Given the description of an element on the screen output the (x, y) to click on. 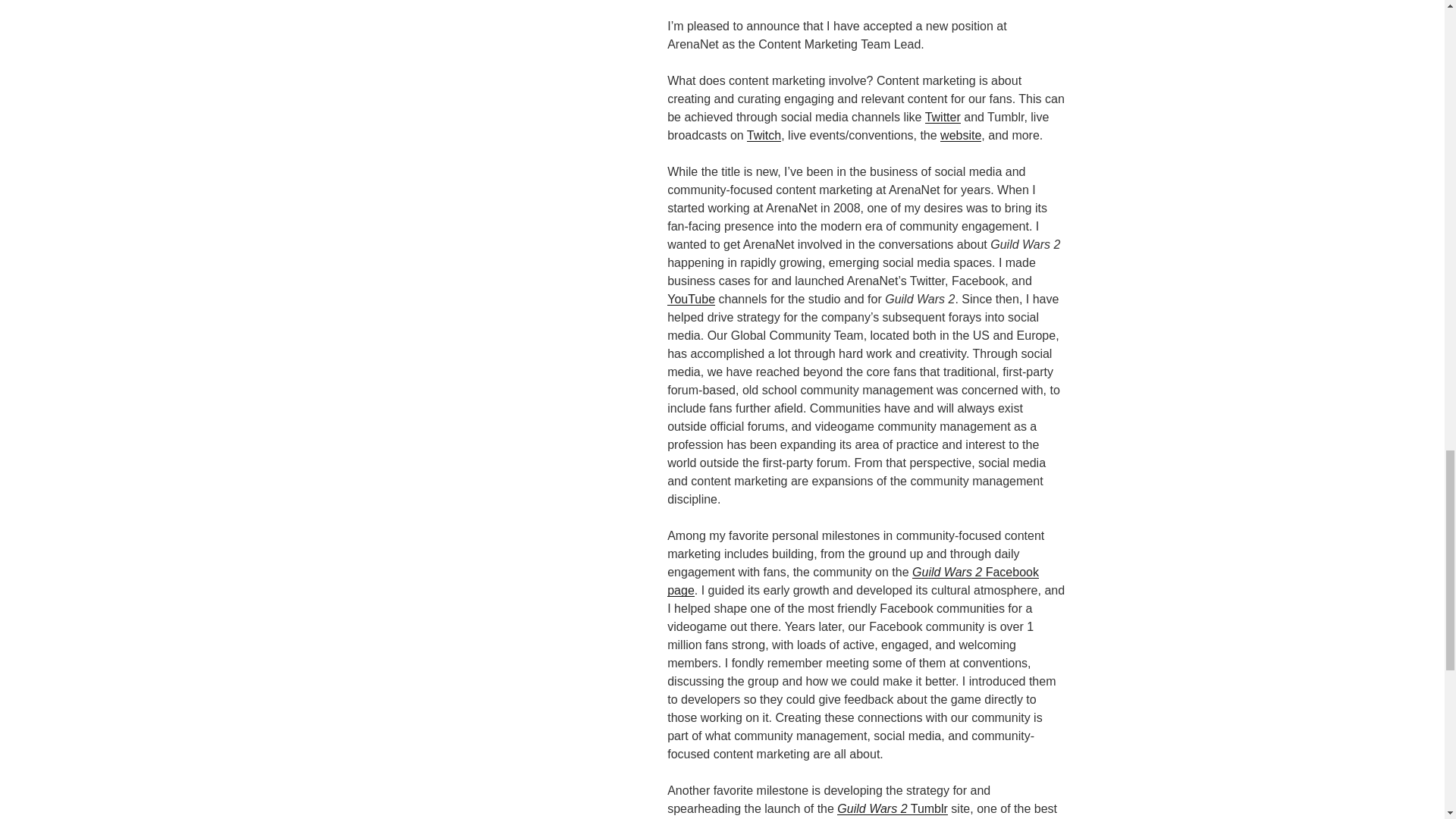
website (960, 134)
Twitch (763, 134)
Guild Wars 2 Facebook page (852, 581)
Twitter (942, 116)
Guild Wars 2 Tumblr (892, 808)
YouTube (690, 298)
